Given the description of an element on the screen output the (x, y) to click on. 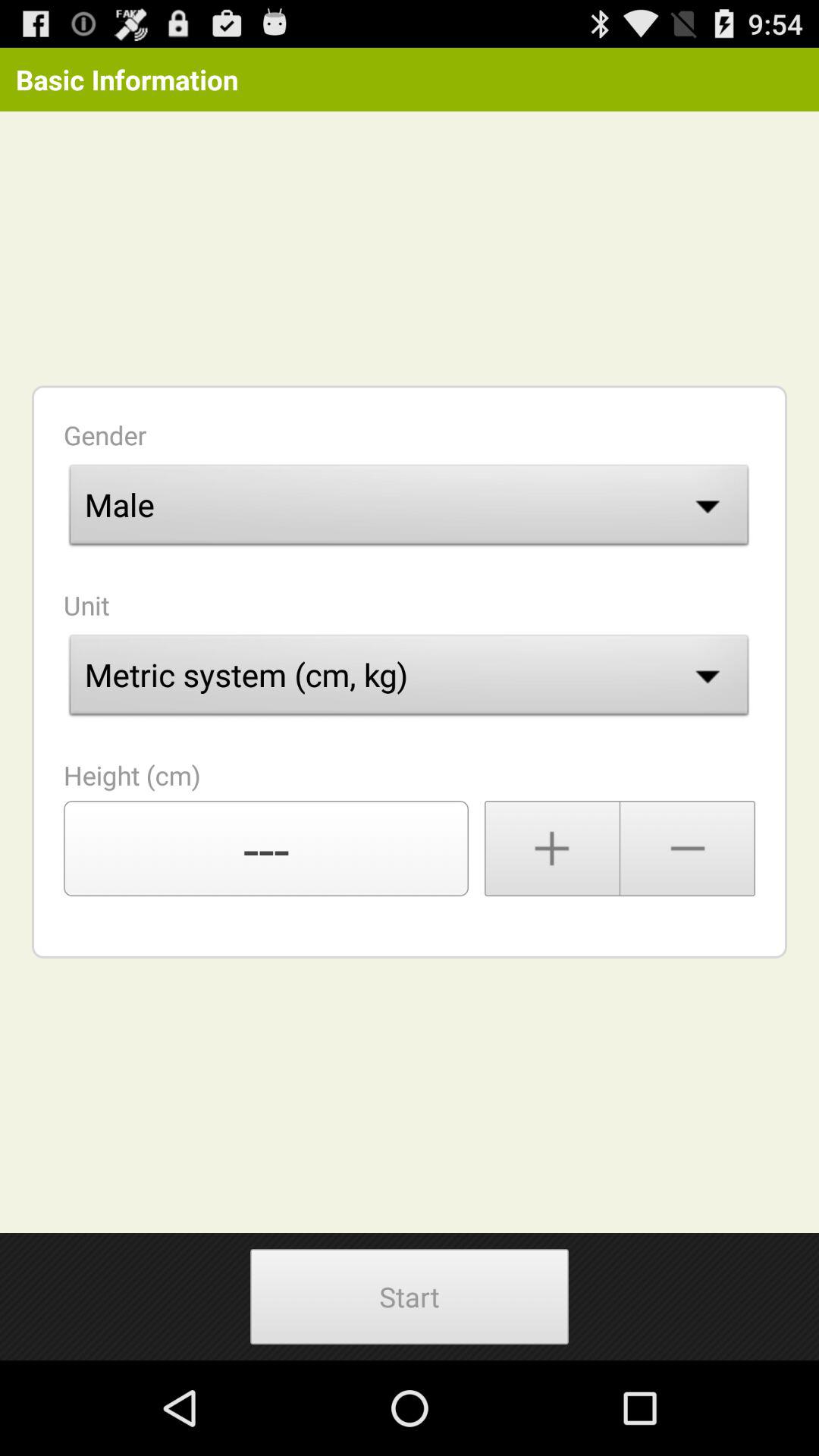
increase the number till you find your height measurement (551, 848)
